Given the description of an element on the screen output the (x, y) to click on. 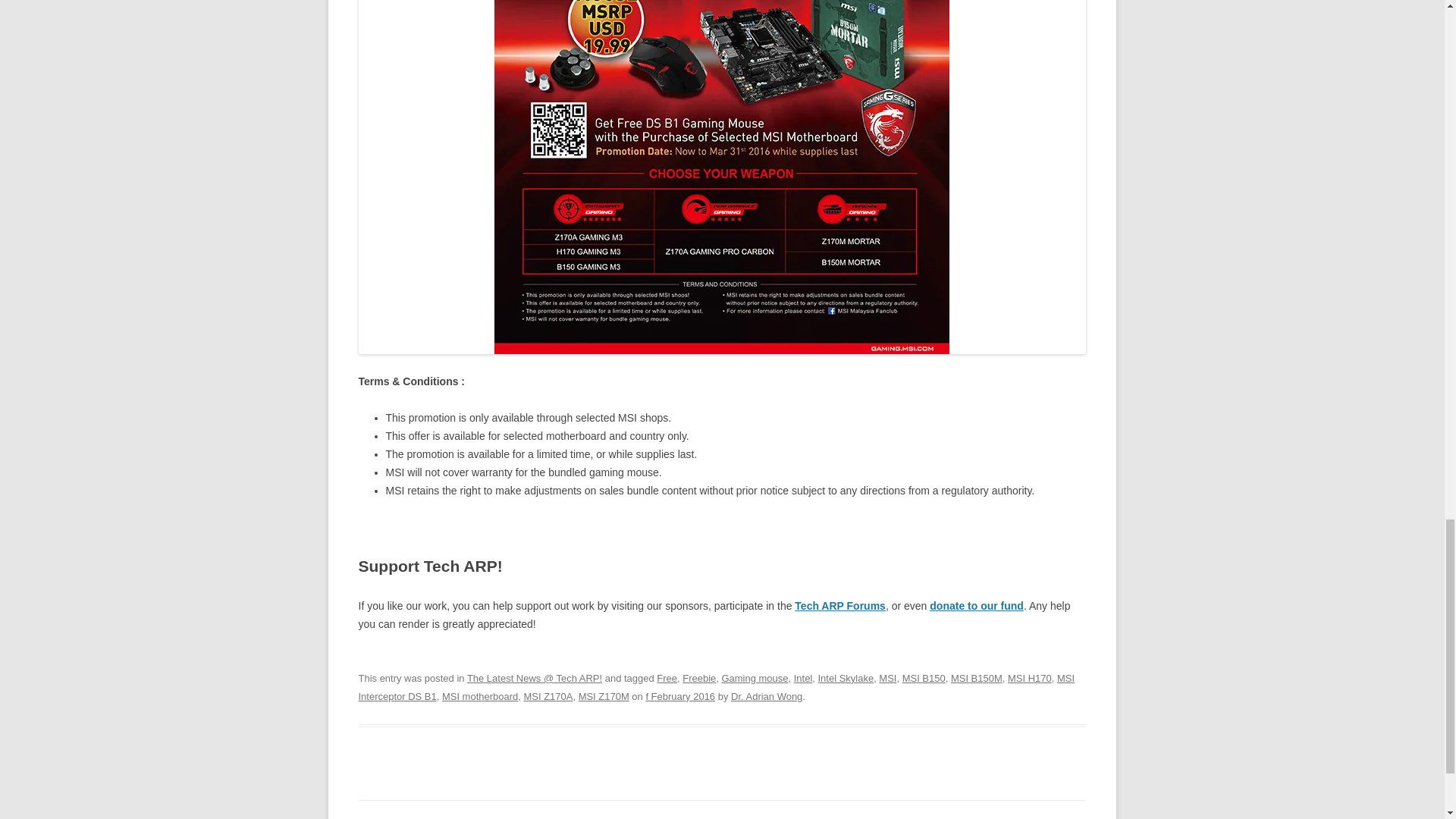
Gaming mouse (753, 677)
MSI B150 (923, 677)
Dr. Adrian Wong (766, 696)
donate to our fund (976, 605)
MSI motherboard (480, 696)
View all posts by Dr. Adrian Wong (766, 696)
MSI Z170A (547, 696)
10:39 pm (679, 696)
MSI Interceptor DS B1 (716, 686)
Tech ARP Forums (839, 605)
